Given the description of an element on the screen output the (x, y) to click on. 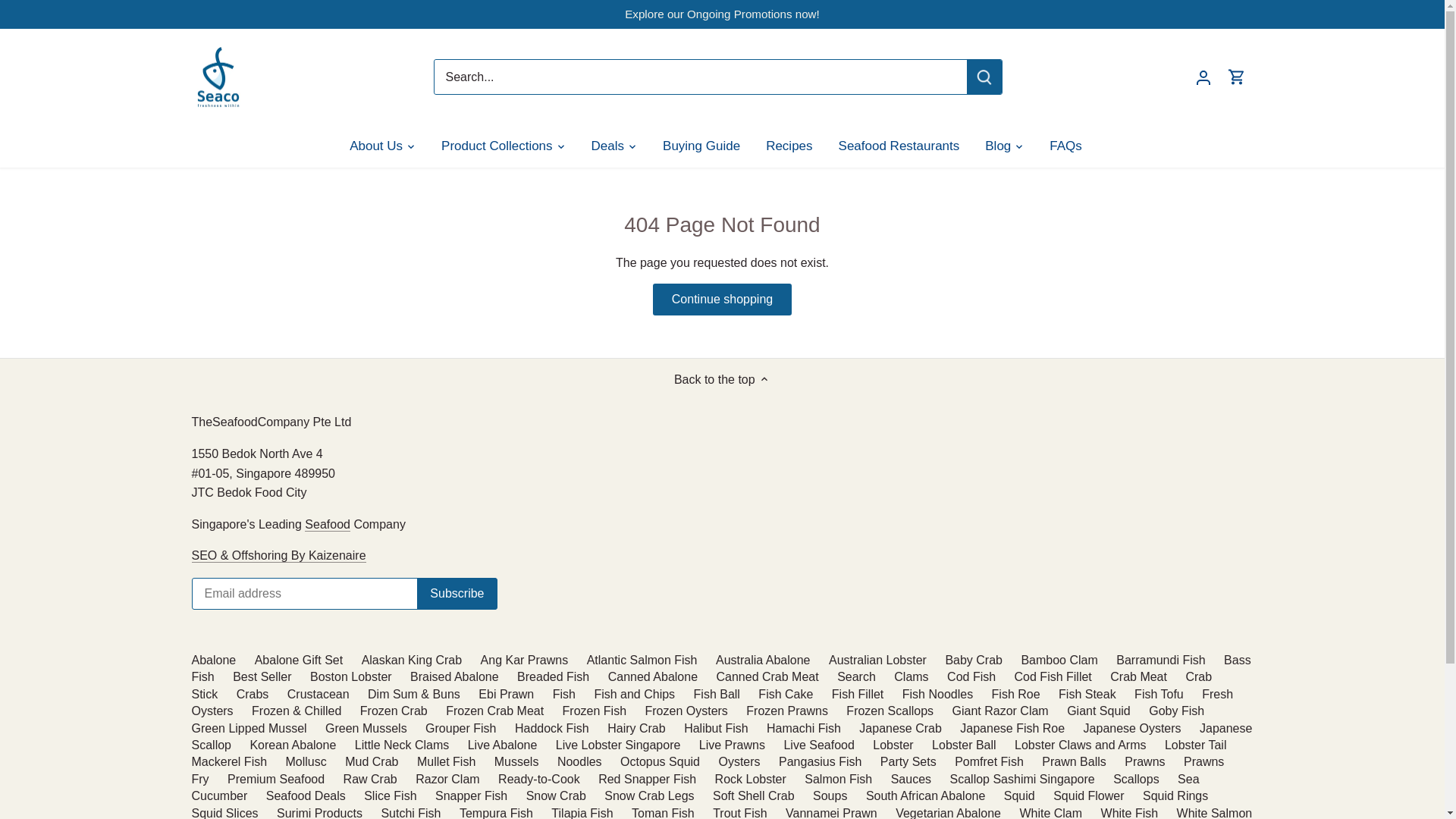
Explore our Ongoing Promotions now! (721, 13)
About Us (381, 146)
Subscribe (456, 593)
Product Collections (496, 146)
